Given the description of an element on the screen output the (x, y) to click on. 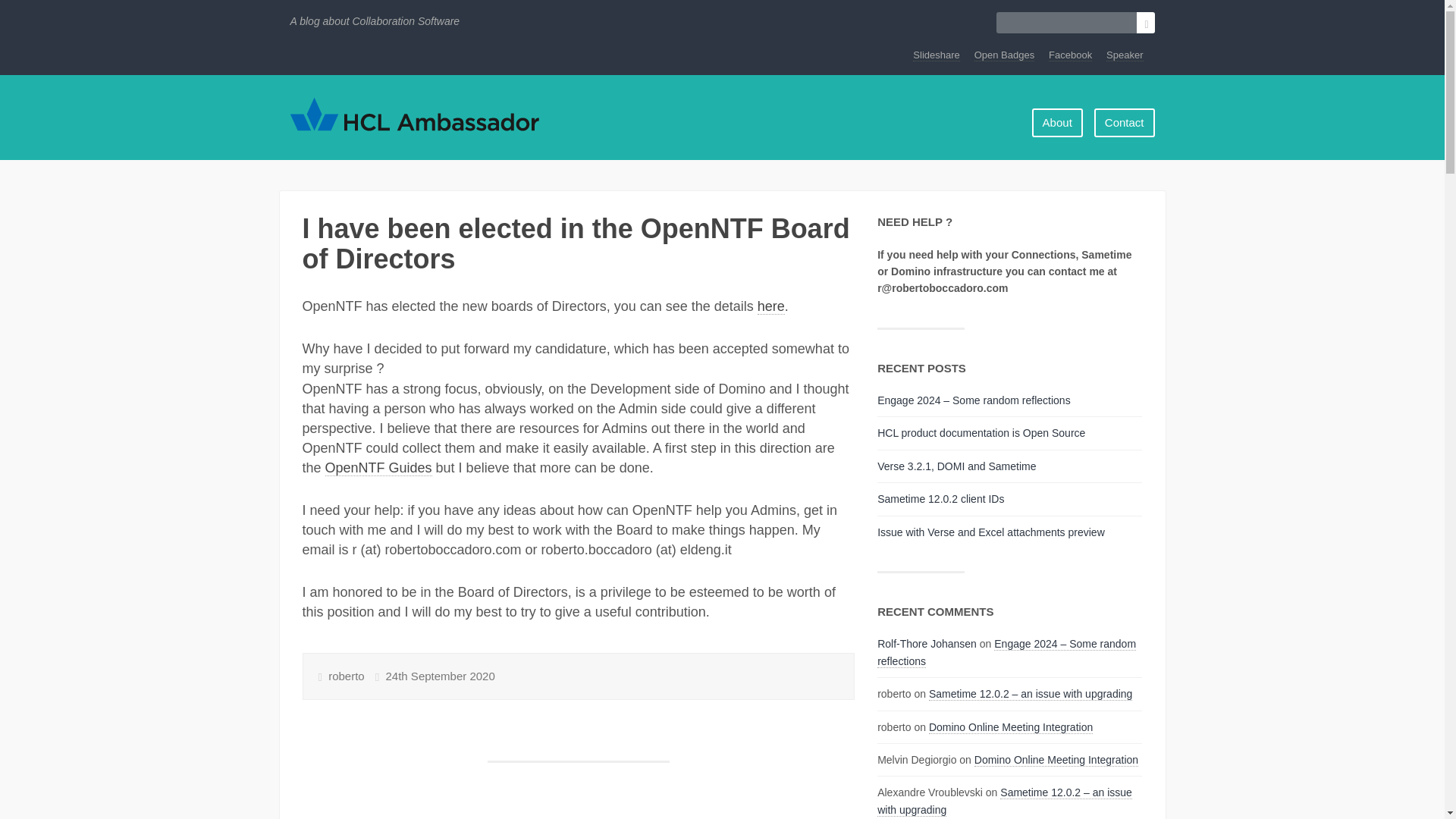
I have been elected in the OpenNTF Board of Directors (574, 243)
Speaker (1124, 55)
About (1056, 122)
Issue with Verse and Excel attachments preview (991, 532)
Domino Online Meeting Integration (1010, 727)
Facebook (1070, 55)
Contact (1124, 122)
Domino Online Meeting Integration (1056, 759)
Sametime 12.0.2 client IDs (940, 499)
Open Badges (1004, 55)
Rolf-Thore Johansen (926, 644)
HCL product documentation is Open Source (980, 432)
Slideshare (935, 55)
Verse 3.2.1, DOMI and Sametime (956, 466)
OpenNTF Guides (378, 467)
